Given the description of an element on the screen output the (x, y) to click on. 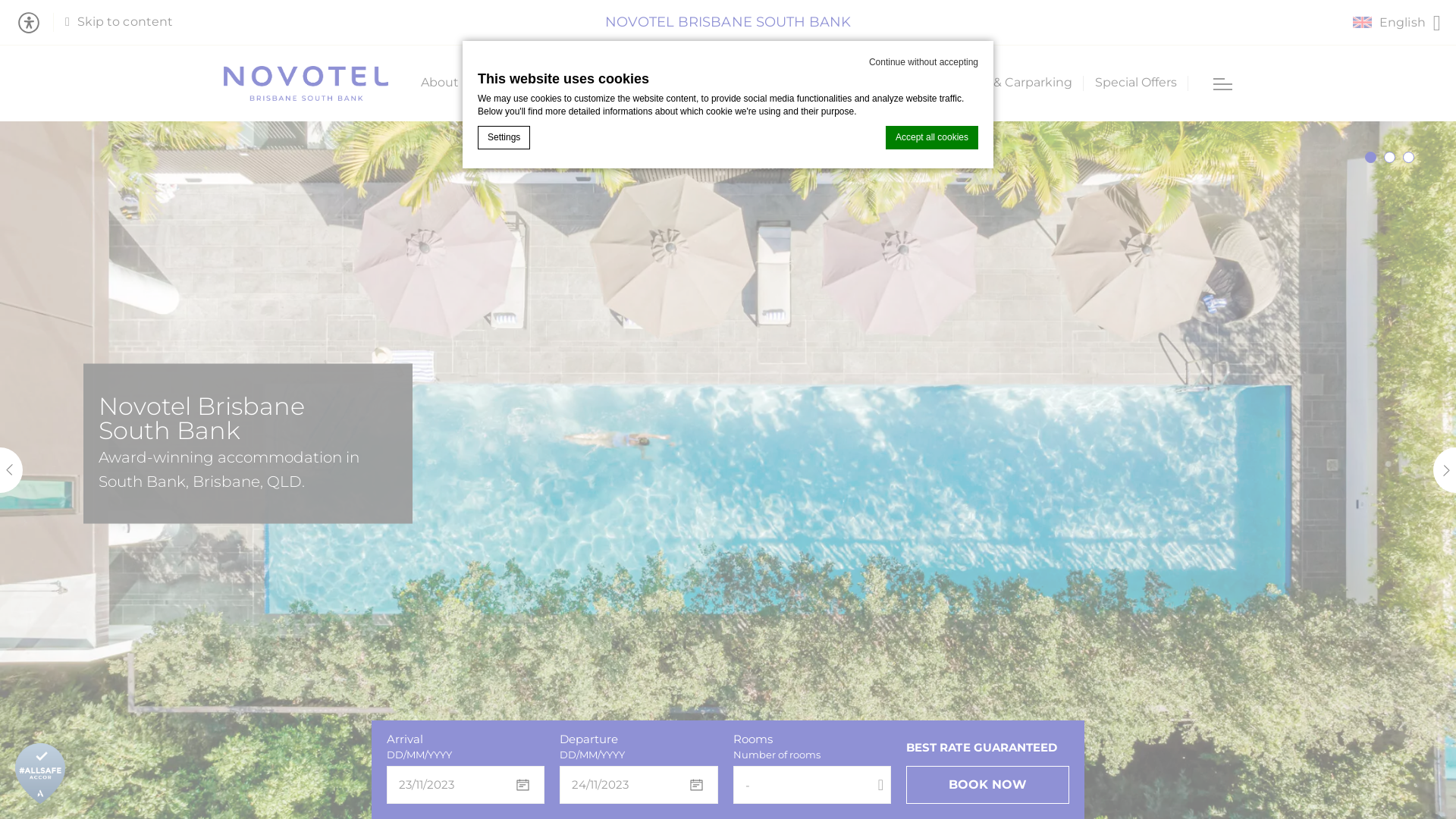
Facilities & Carparking Element type: text (1005, 83)
Accessibility Options Element type: hover (34, 22)
Continue without accepting Element type: text (923, 62)
Skip to content Element type: text (118, 22)
English Element type: text (1396, 22)
ALLSAFE approved hotel Element type: hover (40, 773)
Dining Element type: text (653, 83)
NOVOTEL BRISBANE SOUTH BANK Element type: text (727, 22)
Settings Element type: text (503, 137)
Meetings & Events Spaces Brisbane Element type: text (806, 83)
Accept all cookies Element type: text (931, 137)
About Us Element type: text (448, 83)
Open main navigation menu Element type: hover (1222, 83)
Book now Element type: text (987, 784)
Rooms and Suites Element type: text (555, 83)
Special Offers Element type: text (1135, 83)
Back to home page Element type: hover (305, 83)
